Given the description of an element on the screen output the (x, y) to click on. 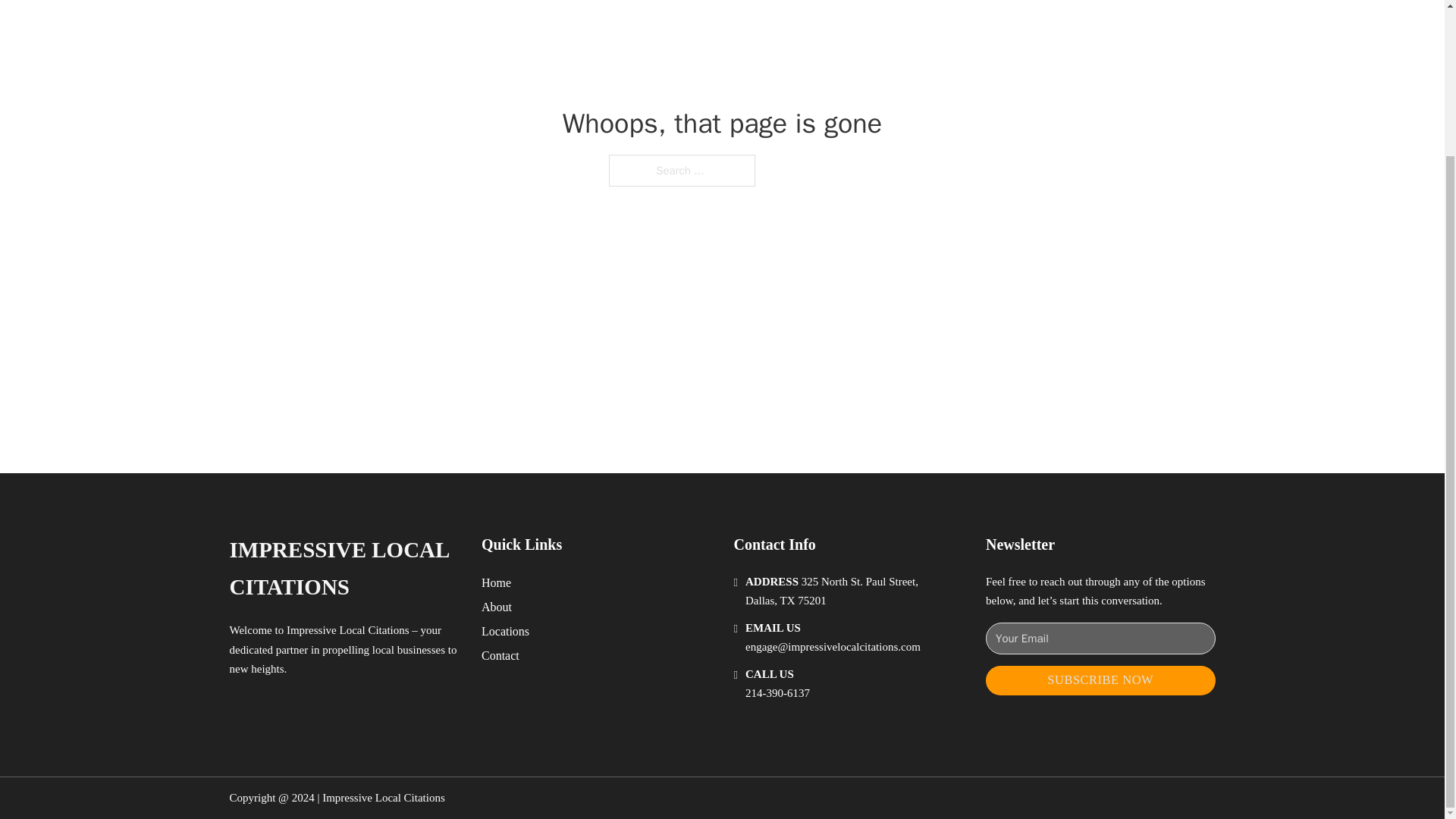
Locations (505, 630)
Contact (500, 655)
Home (496, 582)
About (496, 607)
SUBSCRIBE NOW (1100, 680)
214-390-6137 (777, 693)
IMPRESSIVE LOCAL CITATIONS (343, 568)
